Given the description of an element on the screen output the (x, y) to click on. 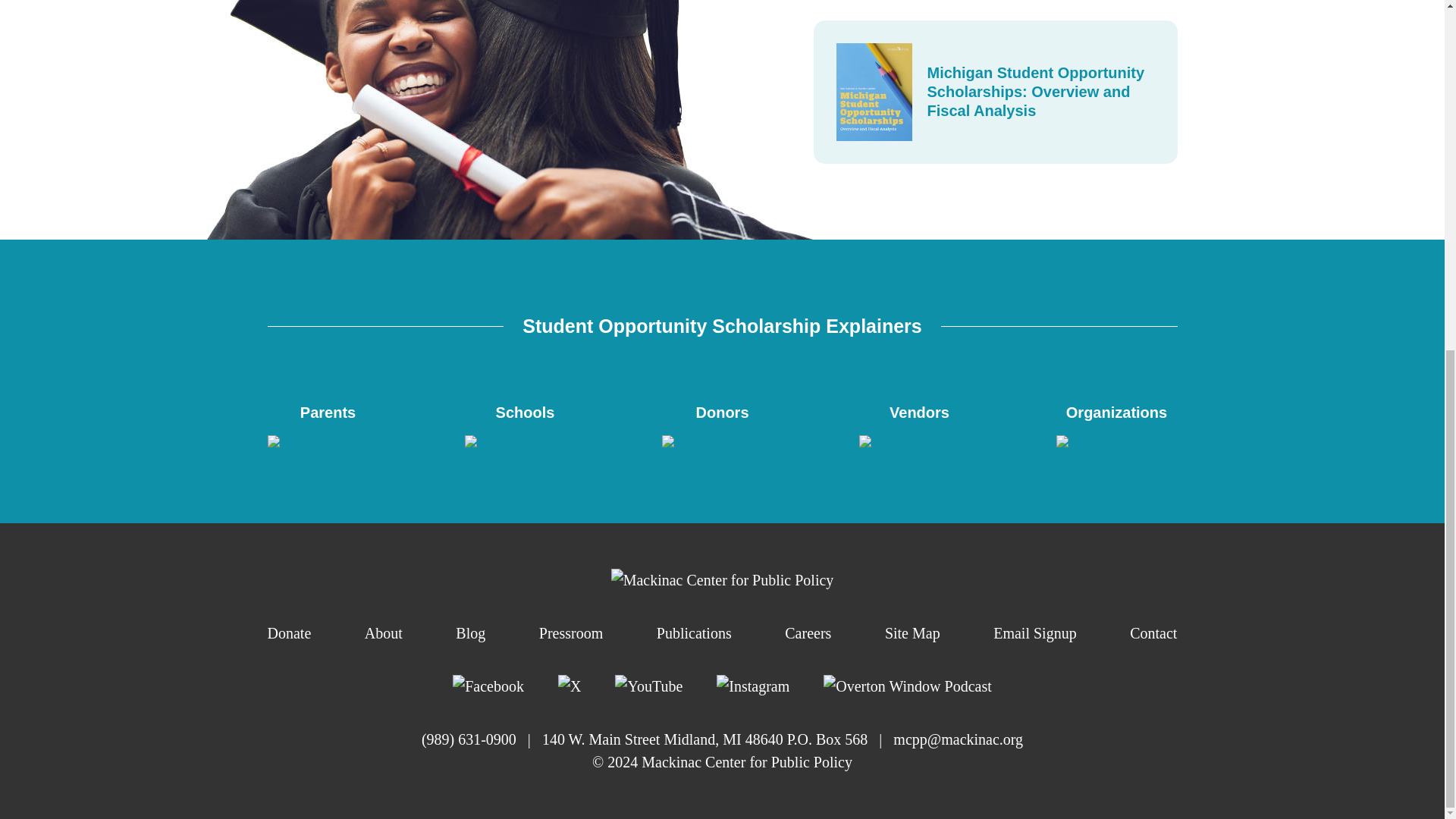
Organizations (1115, 424)
About (384, 632)
Careers (807, 632)
Email Signup (1033, 632)
Vendors (919, 424)
Pressroom (570, 632)
Parents (327, 424)
Donors (722, 424)
Site Map (912, 632)
